Given the description of an element on the screen output the (x, y) to click on. 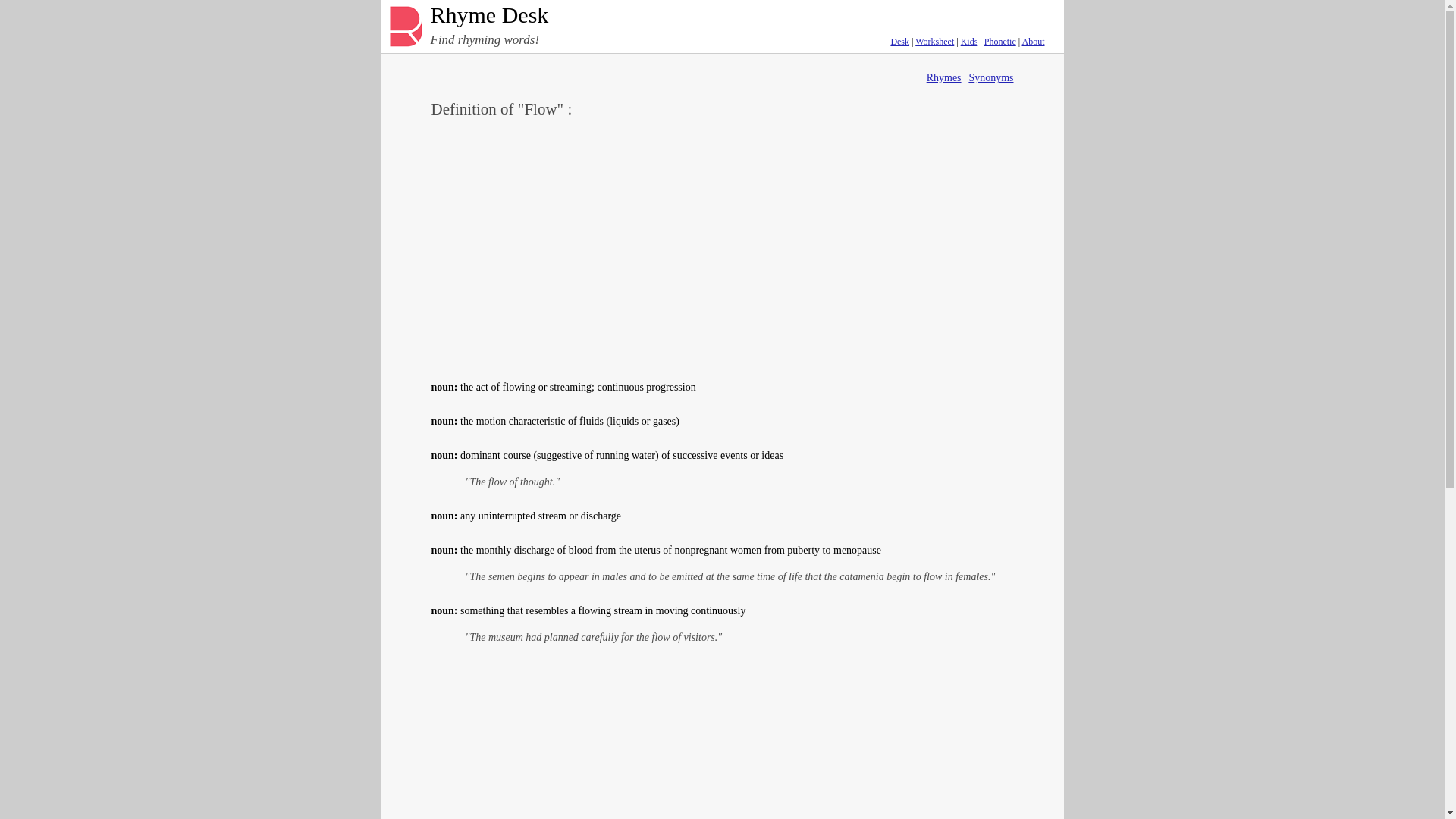
Kids (969, 41)
Rhyme Desk (711, 18)
Synonyms (990, 77)
About (1033, 41)
Worksheet (934, 41)
Advertisement (721, 246)
Desk (898, 41)
Rhymes (943, 77)
Phonetic (1000, 41)
Advertisement (721, 745)
